Given the description of an element on the screen output the (x, y) to click on. 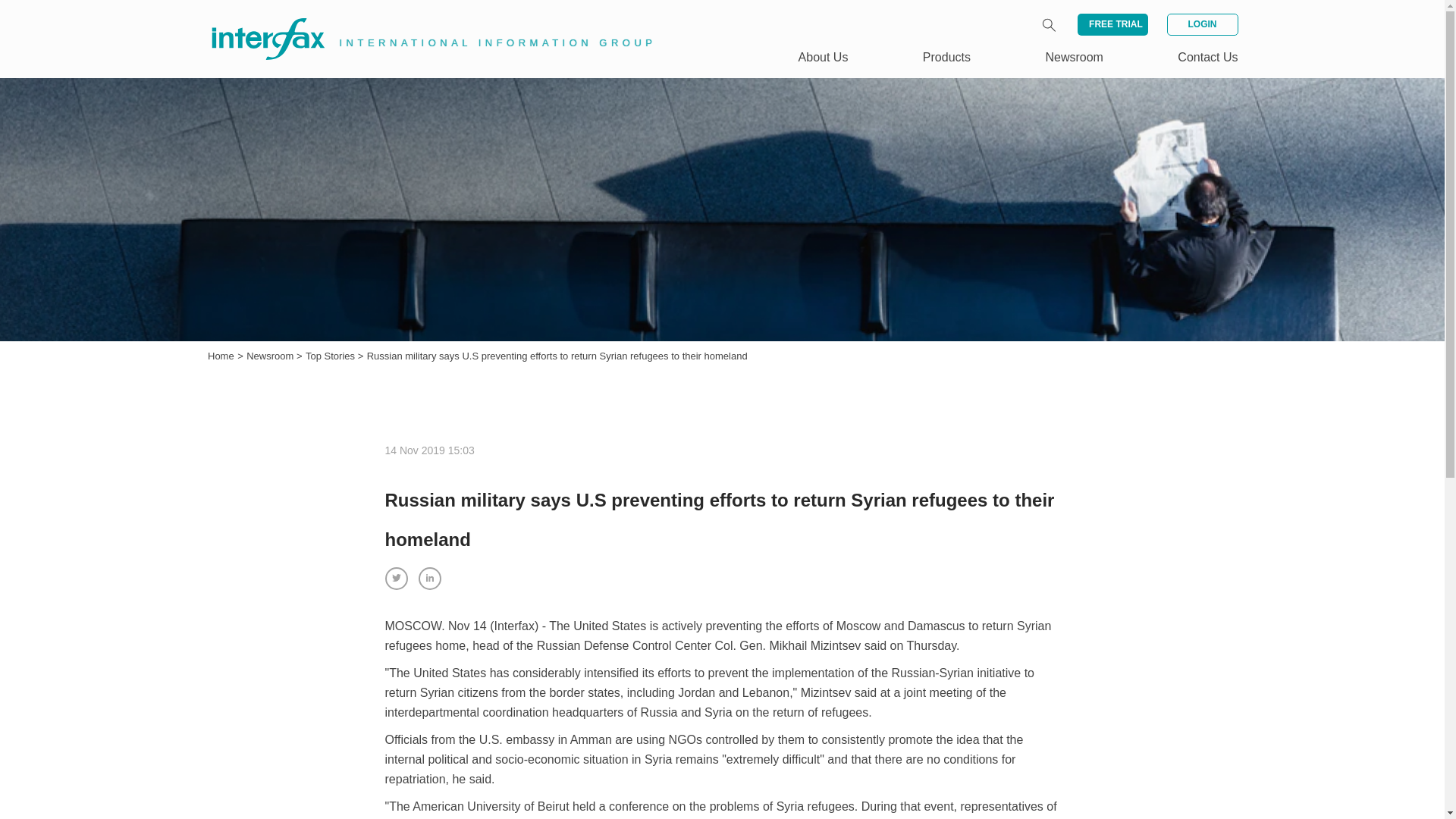
Contact Us (1207, 56)
About Us (822, 56)
Top Stories (331, 355)
LOGIN (1201, 24)
INTERNATIONAL INFORMATION GROUP (421, 20)
Newsroom (271, 355)
Products (947, 56)
Newsroom (1073, 56)
Newsroom (271, 355)
FREE TRIAL (1112, 24)
Contact Us (1207, 56)
Home (221, 355)
